Given the description of an element on the screen output the (x, y) to click on. 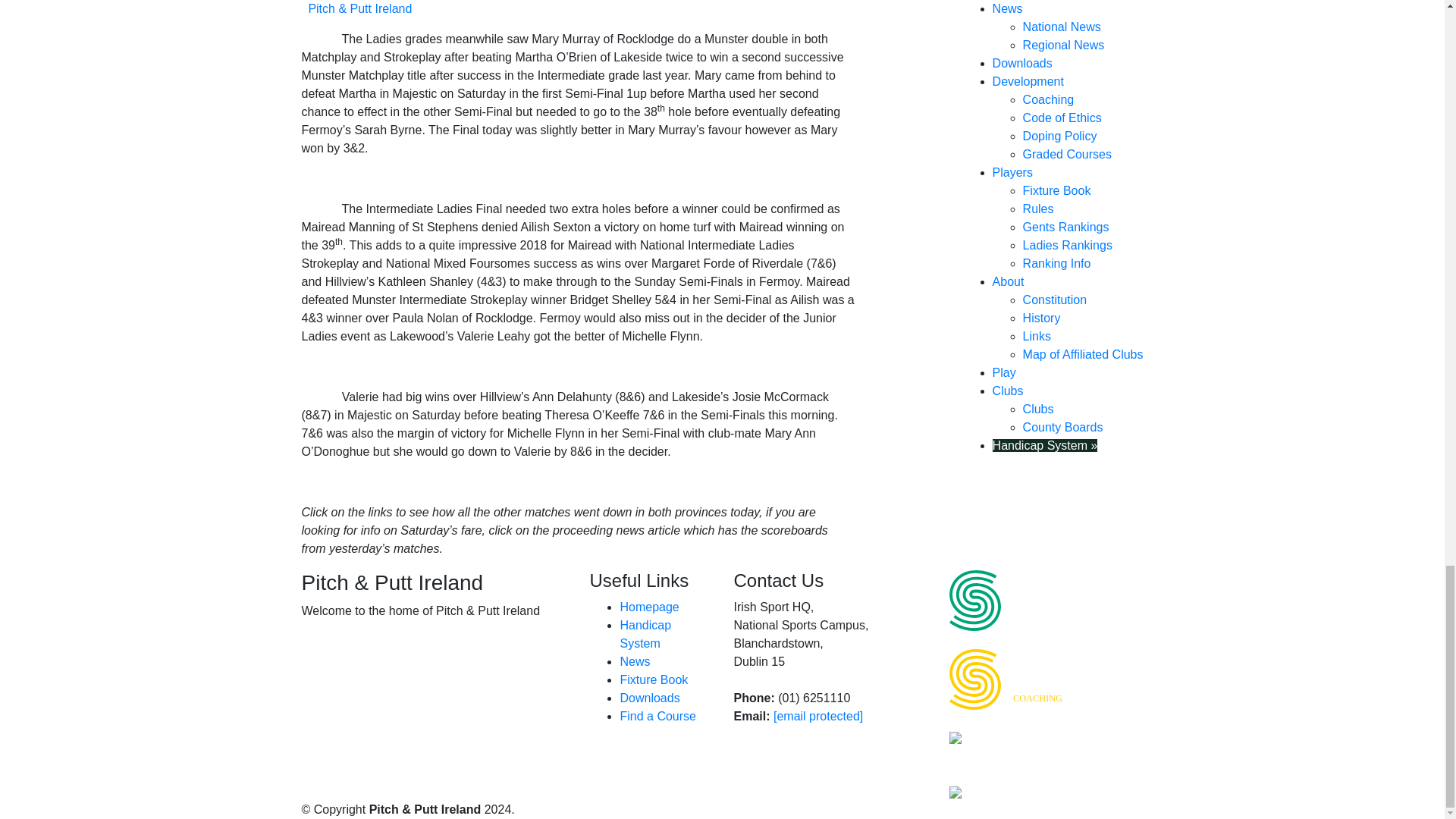
Sport Ireland Coaching homepage (1053, 678)
Homepage (649, 606)
Handicap System (1053, 679)
Sport Ireland  homepage (645, 634)
